Given the description of an element on the screen output the (x, y) to click on. 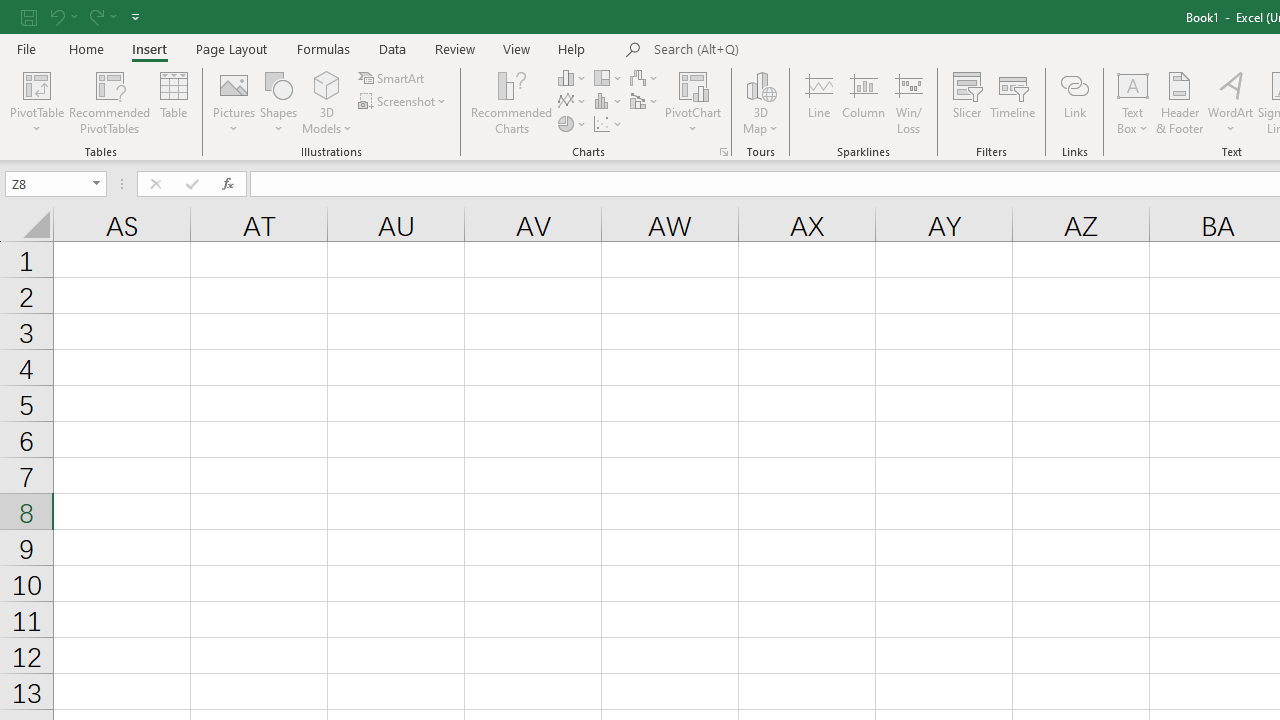
Open (96, 183)
PivotTable (36, 102)
Insert Combo Chart (645, 101)
PivotTable (36, 84)
Save (29, 15)
PivotChart (693, 84)
Header & Footer... (1179, 102)
PivotChart (693, 102)
Insert Hierarchy Chart (609, 78)
More Options (1133, 121)
Insert Pie or Doughnut Chart (573, 124)
